Given the description of an element on the screen output the (x, y) to click on. 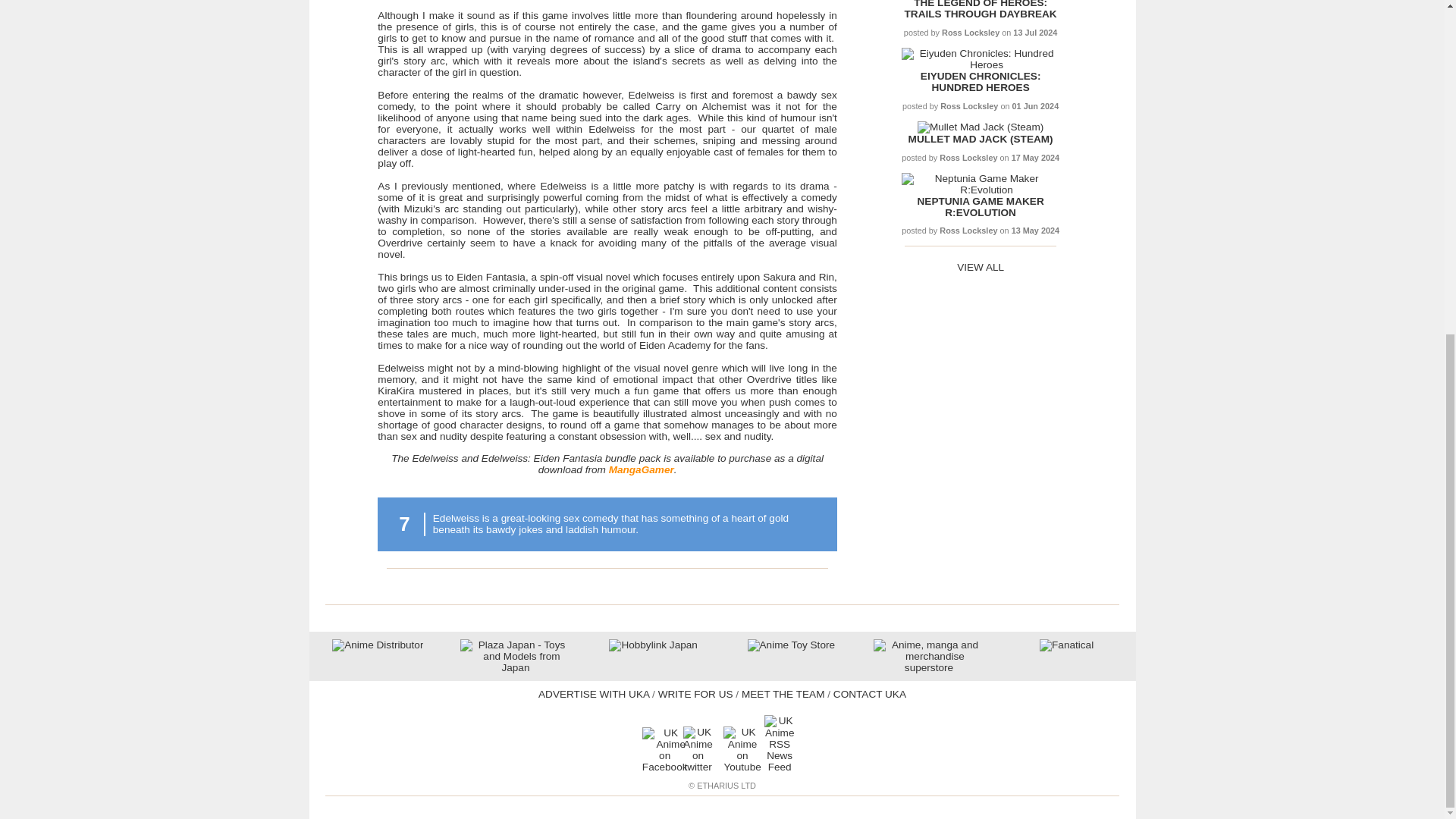
NEPTUNIA GAME MAKER R:EVOLUTION (980, 206)
MangaGamer (641, 469)
The Legend of Heroes: Trails Through Daybreak (980, 9)
ADVERTISE WITH UKA (593, 694)
Anime Distributor (377, 644)
THE LEGEND OF HEROES: TRAILS THROUGH DAYBREAK (980, 9)
Eiyuden Chronicles: Hundred Heroes (980, 64)
EIYUDEN CHRONICLES: HUNDRED HEROES (980, 81)
Neptunia Game Maker R:Evolution (980, 189)
VIEW ALL (980, 266)
